Given the description of an element on the screen output the (x, y) to click on. 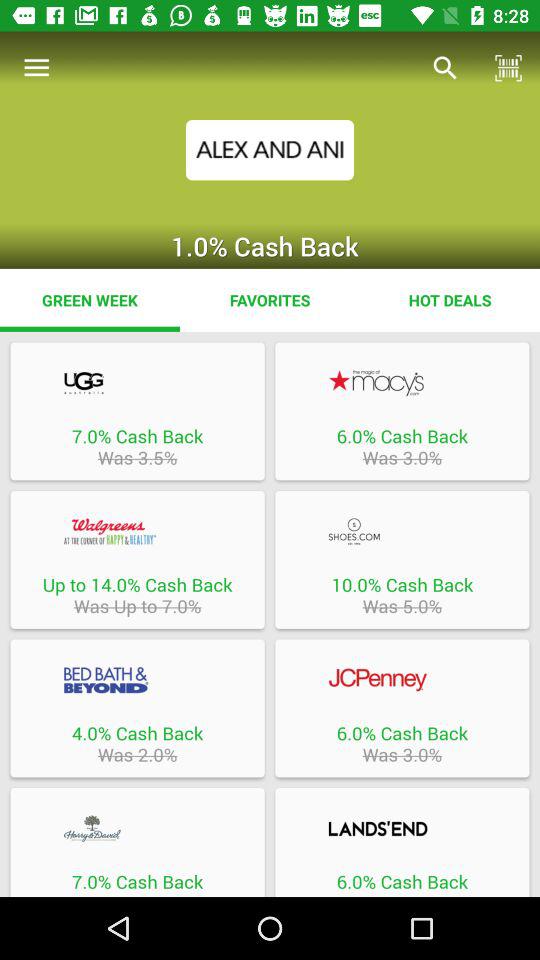
select option (137, 828)
